Given the description of an element on the screen output the (x, y) to click on. 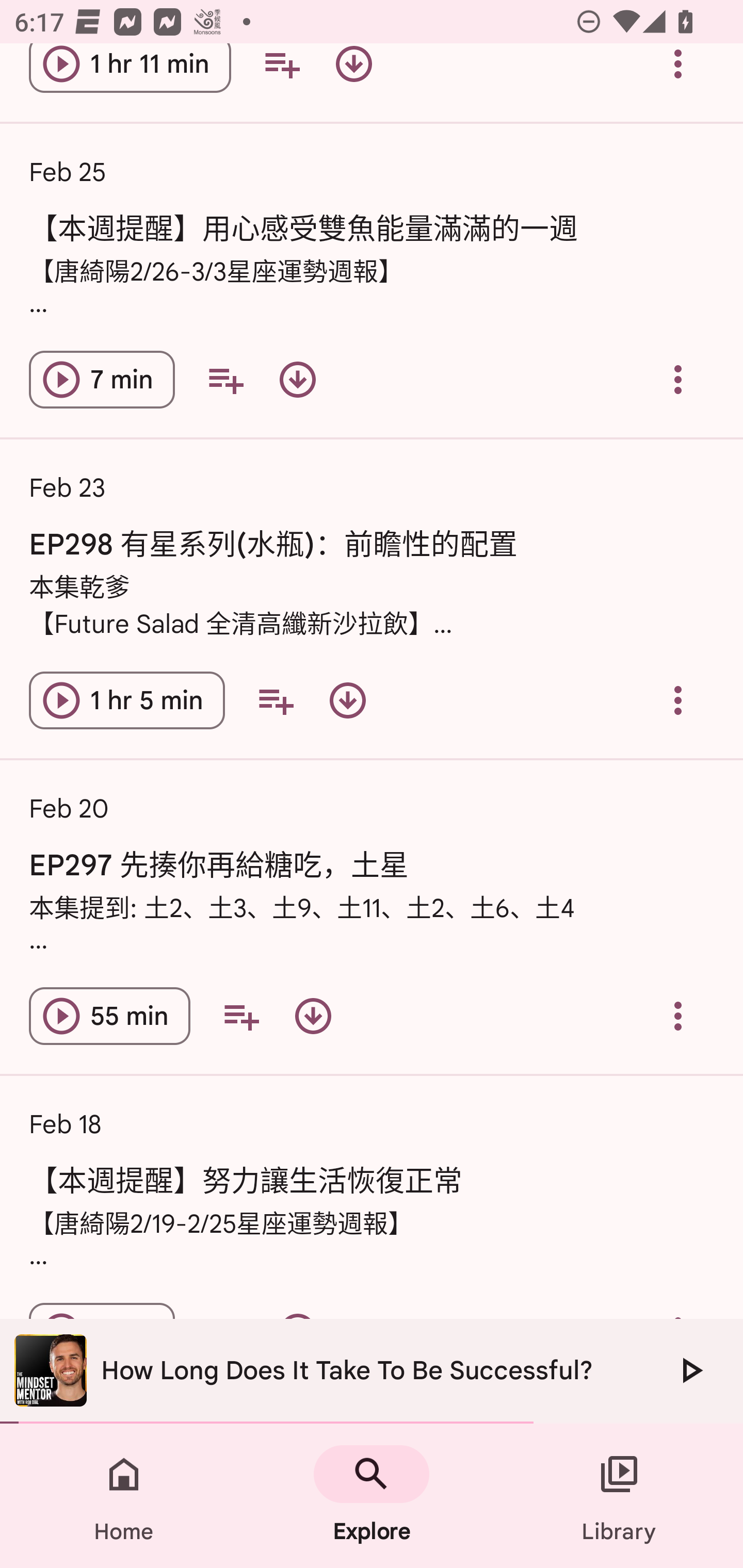
Play episode EP299 水星進雙魚的讀空氣指南 1 hr 11 min (129, 74)
Add to your queue (281, 74)
Download episode (354, 74)
Overflow menu (677, 74)
Play episode 【本週提醒】用心感受雙魚能量滿滿的一週 7 min (101, 379)
Add to your queue (225, 379)
Download episode (297, 379)
Overflow menu (677, 379)
Play episode EP298 有星系列(水瓶)：前瞻性的配置 1 hr 5 min (126, 699)
Add to your queue (275, 699)
Download episode (347, 699)
Overflow menu (677, 699)
Play episode EP297 先揍你再給糖吃，土星 55 min (109, 1015)
Add to your queue (241, 1015)
Download episode (313, 1015)
Overflow menu (677, 1015)
Play (690, 1370)
Home (123, 1495)
Library (619, 1495)
